Given the description of an element on the screen output the (x, y) to click on. 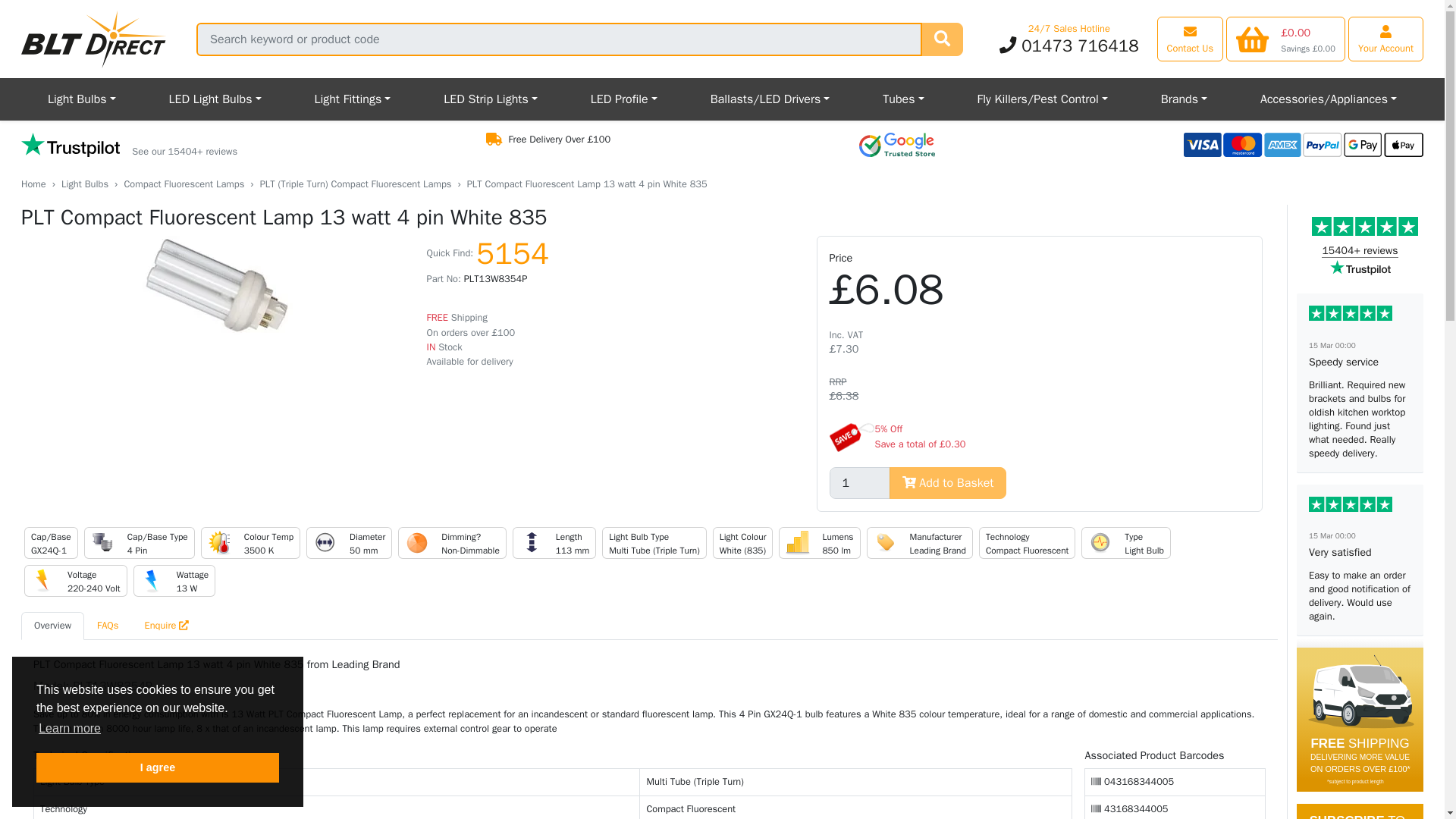
Light Fittings (351, 99)
FAQs (107, 625)
Tubes (903, 99)
PLT Compact Fluorescent Lamp 13 watt 4 pin White 835 (217, 284)
Brands (1183, 99)
Add to Basket (948, 482)
Add to Basket (948, 482)
01473 716418 (1068, 45)
1 (859, 482)
Contact Us (1190, 38)
Light Bulbs (81, 99)
LED Light Bulbs (215, 99)
Light Bulbs (81, 99)
TrustPilot (129, 145)
LED Profile (624, 99)
